Given the description of an element on the screen output the (x, y) to click on. 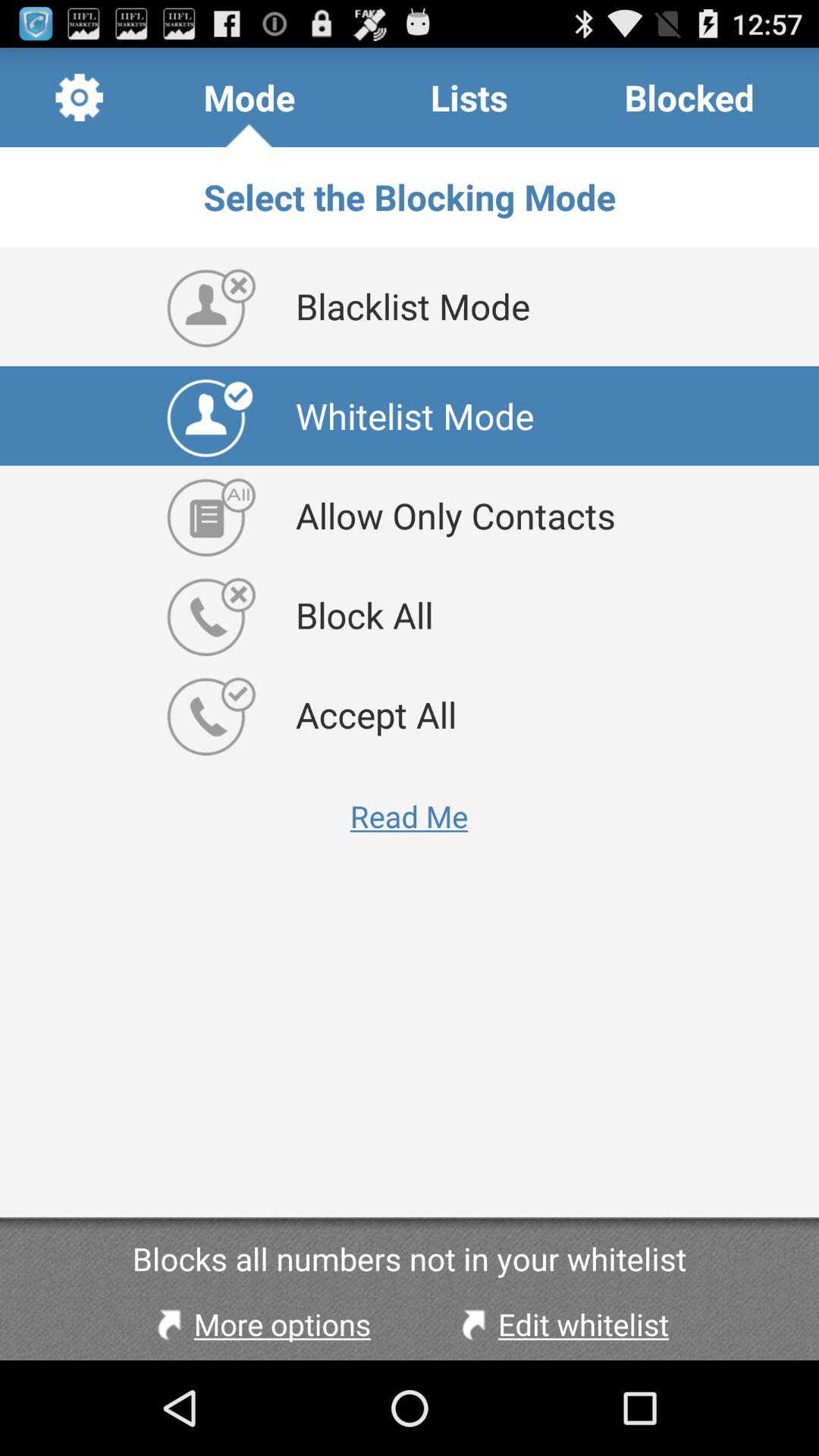
select the icon to the left of the blocked (469, 97)
